Given the description of an element on the screen output the (x, y) to click on. 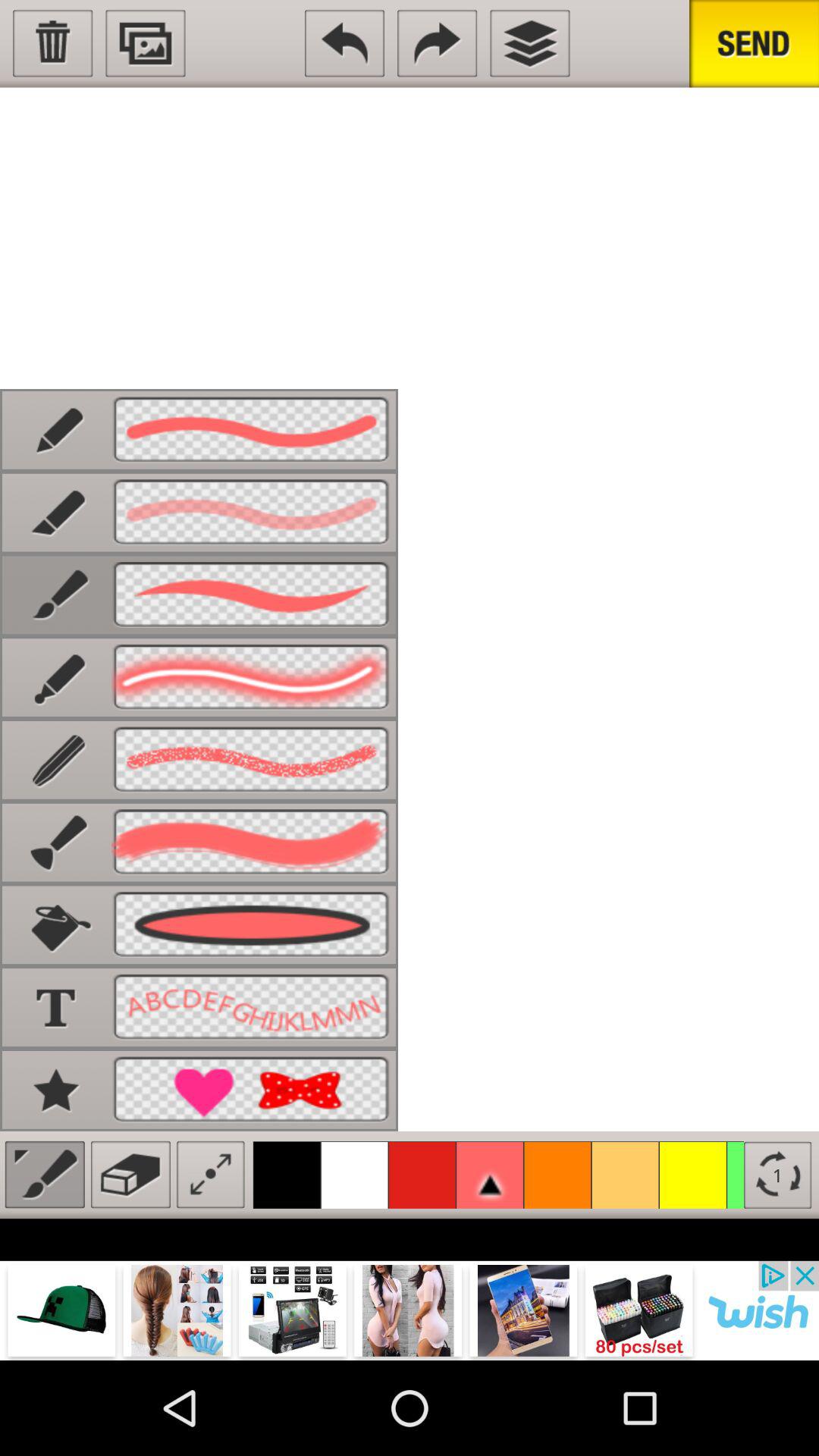
eraser tool selection (130, 1174)
